Given the description of an element on the screen output the (x, y) to click on. 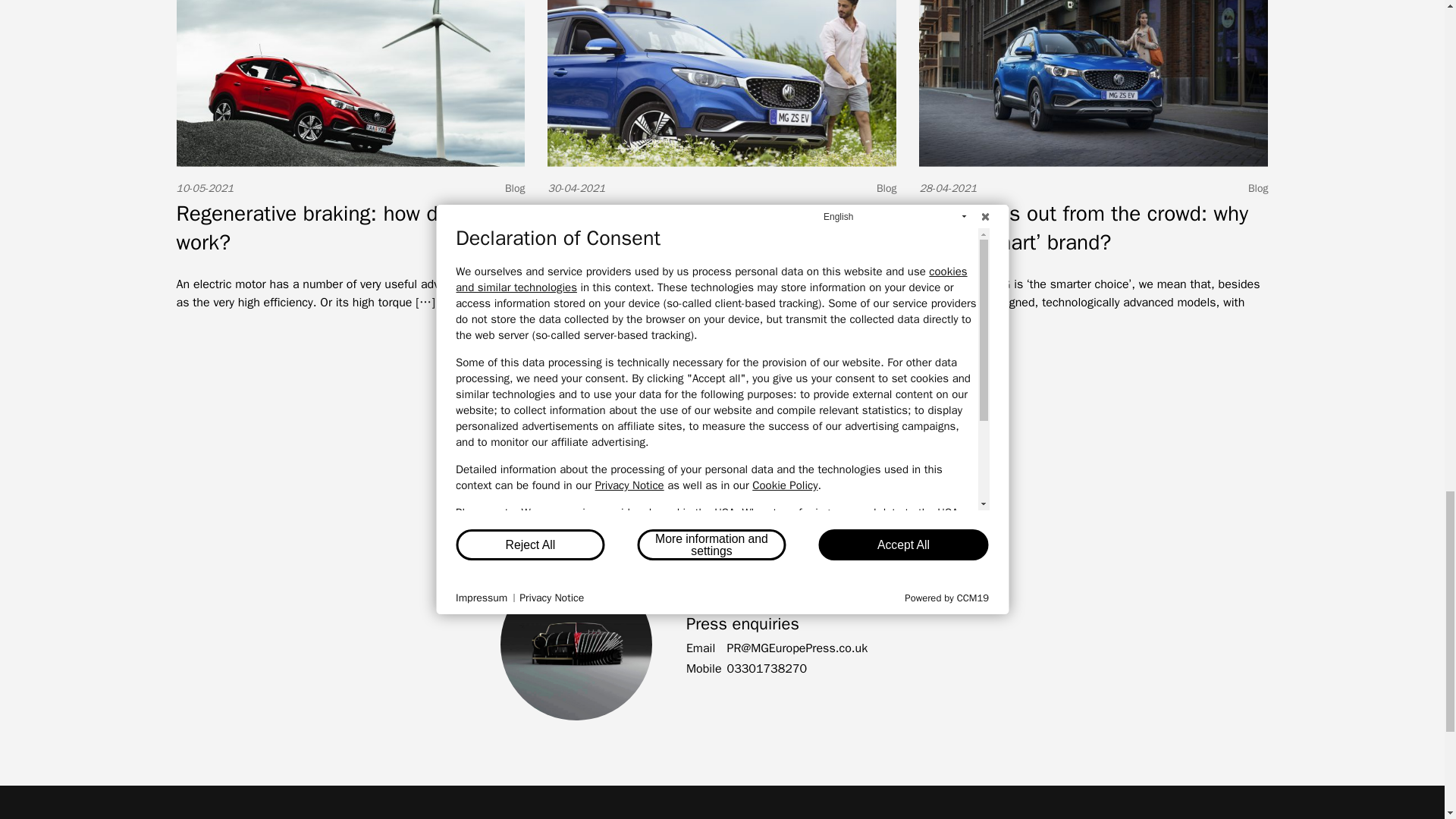
4 (692, 393)
3 (653, 393)
1 (599, 393)
